Given the description of an element on the screen output the (x, y) to click on. 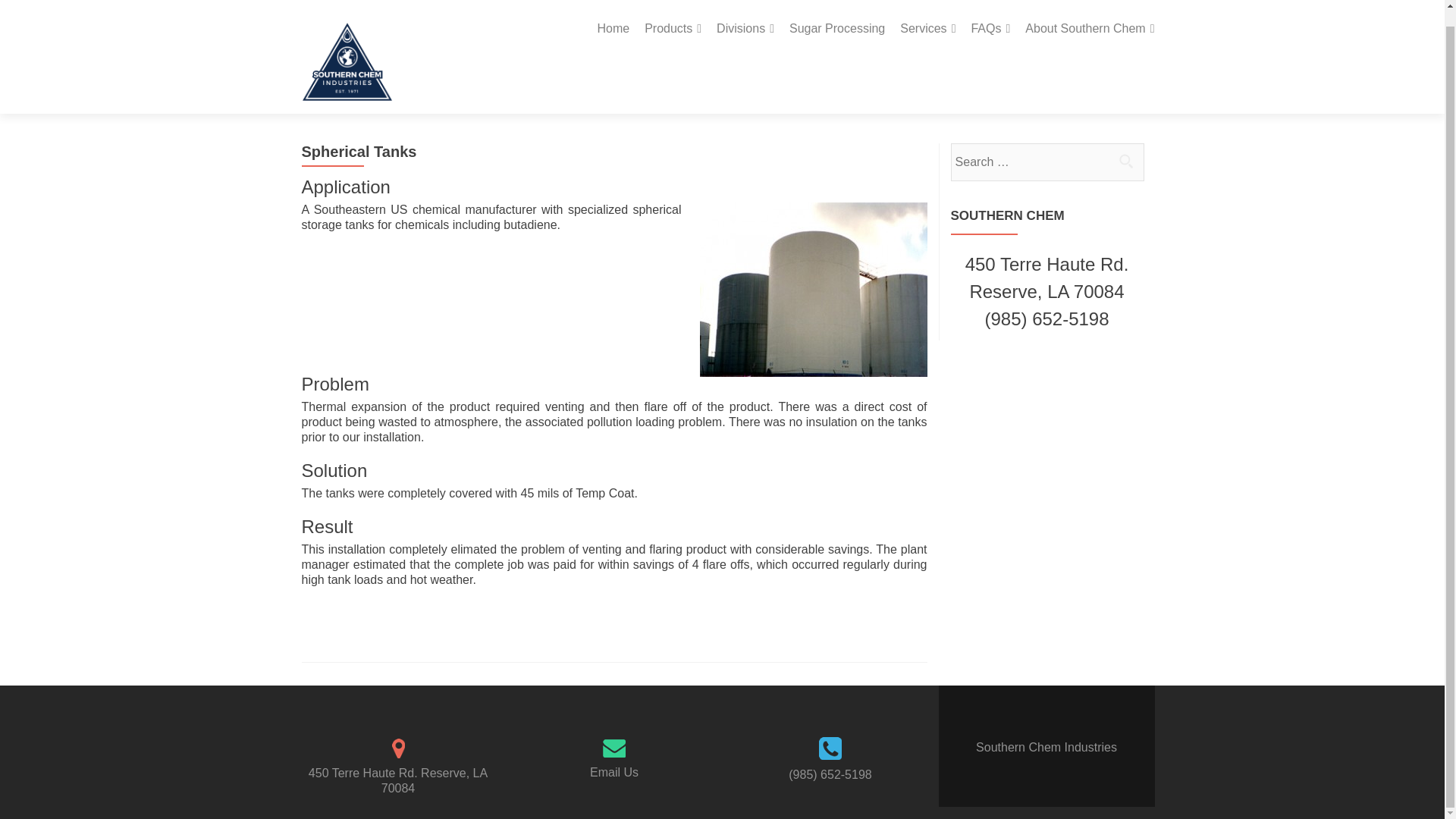
Search (1125, 160)
Services (927, 12)
Products (673, 12)
Home (612, 12)
Sugar Processing (837, 12)
FAQs (990, 12)
Divisions (745, 12)
Search (1125, 160)
Email Us (614, 771)
Search (1125, 160)
About Southern Chem (1089, 12)
